Given the description of an element on the screen output the (x, y) to click on. 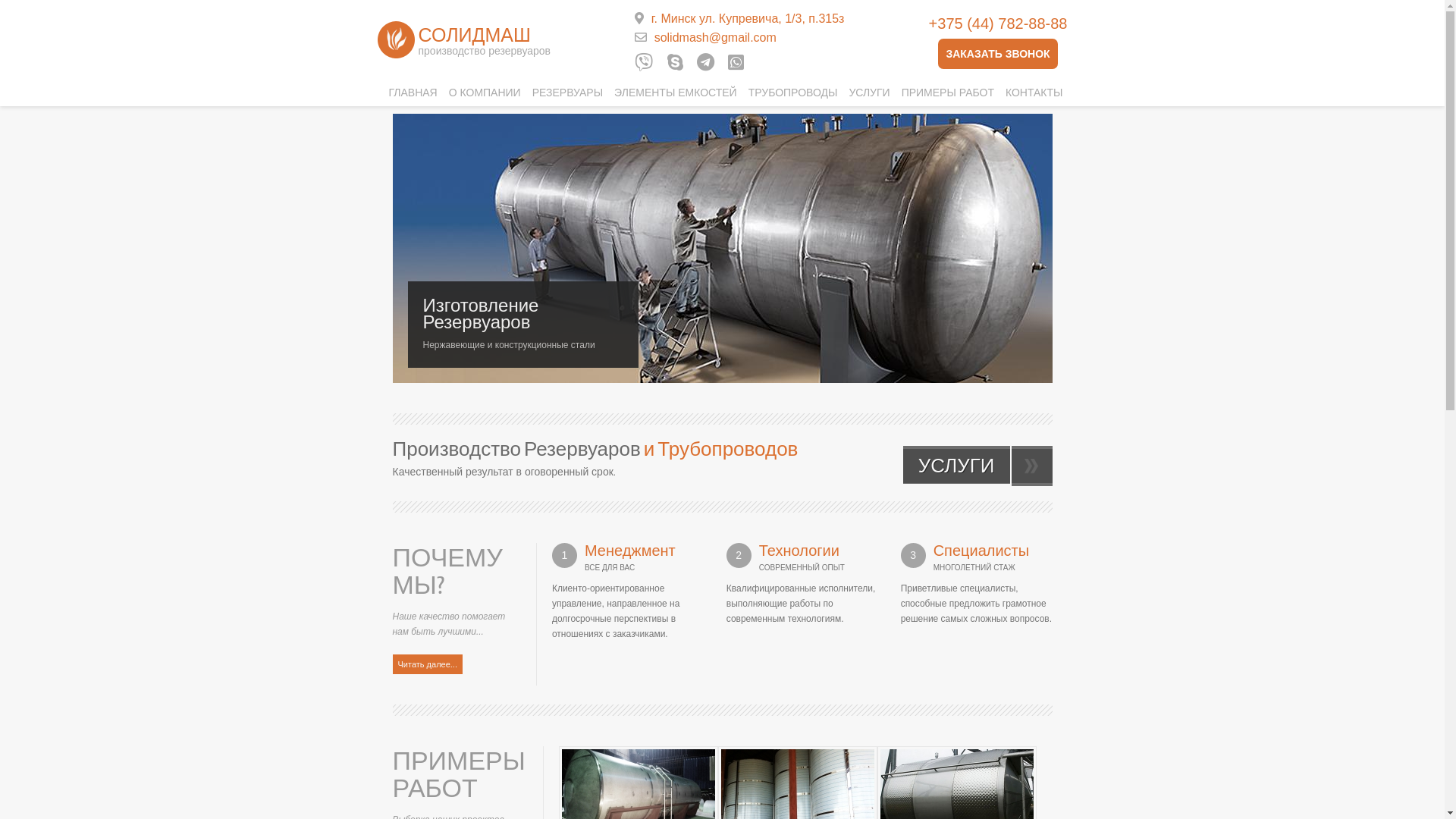
solidmash@gmail.com Element type: text (715, 37)
+375 (44) 782-88-88 Element type: text (997, 23)
